Given the description of an element on the screen output the (x, y) to click on. 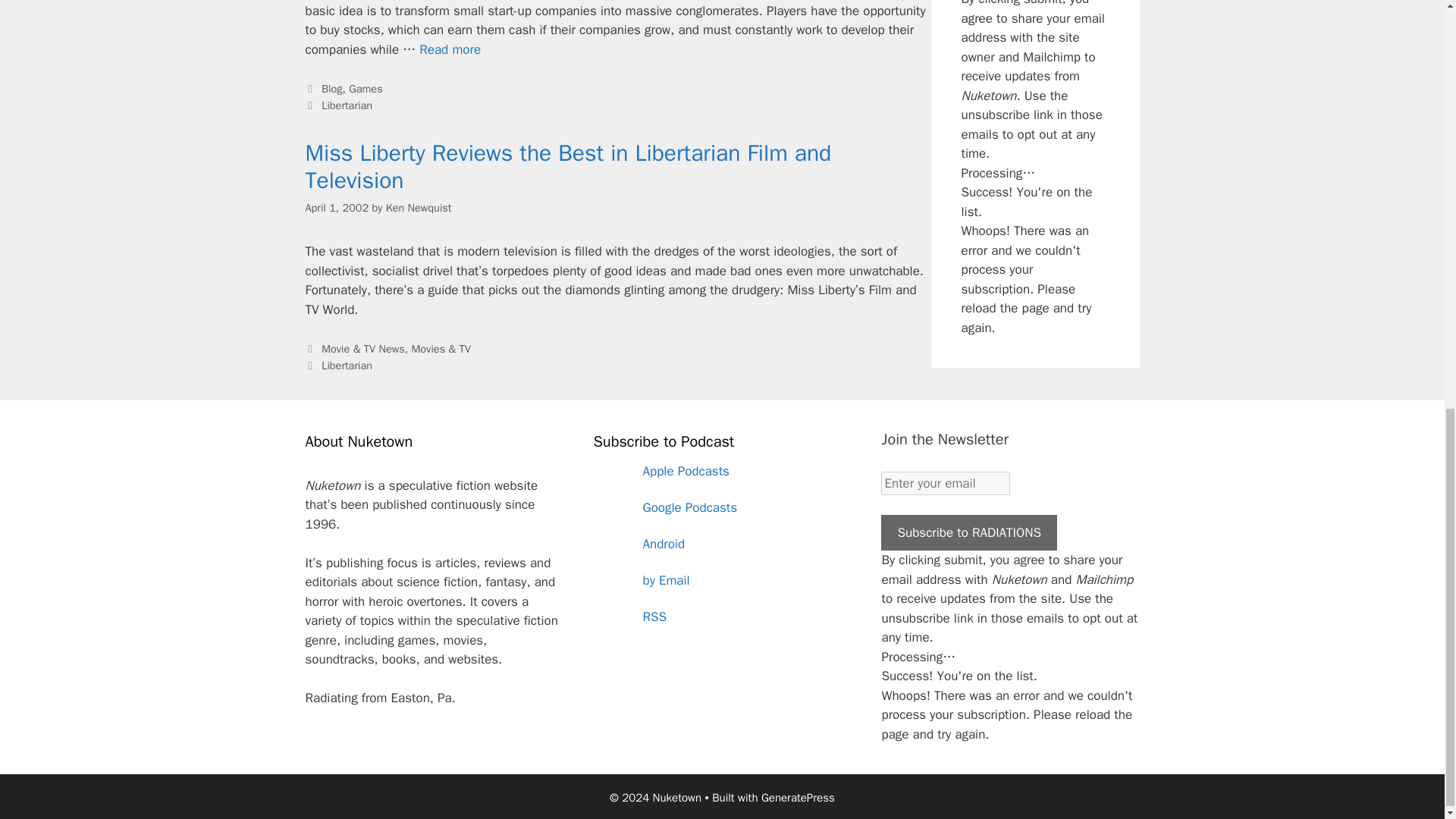
Subscribe by Email (721, 580)
View all posts by Ken Newquist (418, 207)
Subscribe on Apple Podcasts (721, 471)
Acquiring Acquire (449, 49)
Subscribe on Google Podcasts (721, 507)
Enter your email (945, 483)
Subscribe via RSS (721, 616)
Subscribe on Android (721, 544)
